Given the description of an element on the screen output the (x, y) to click on. 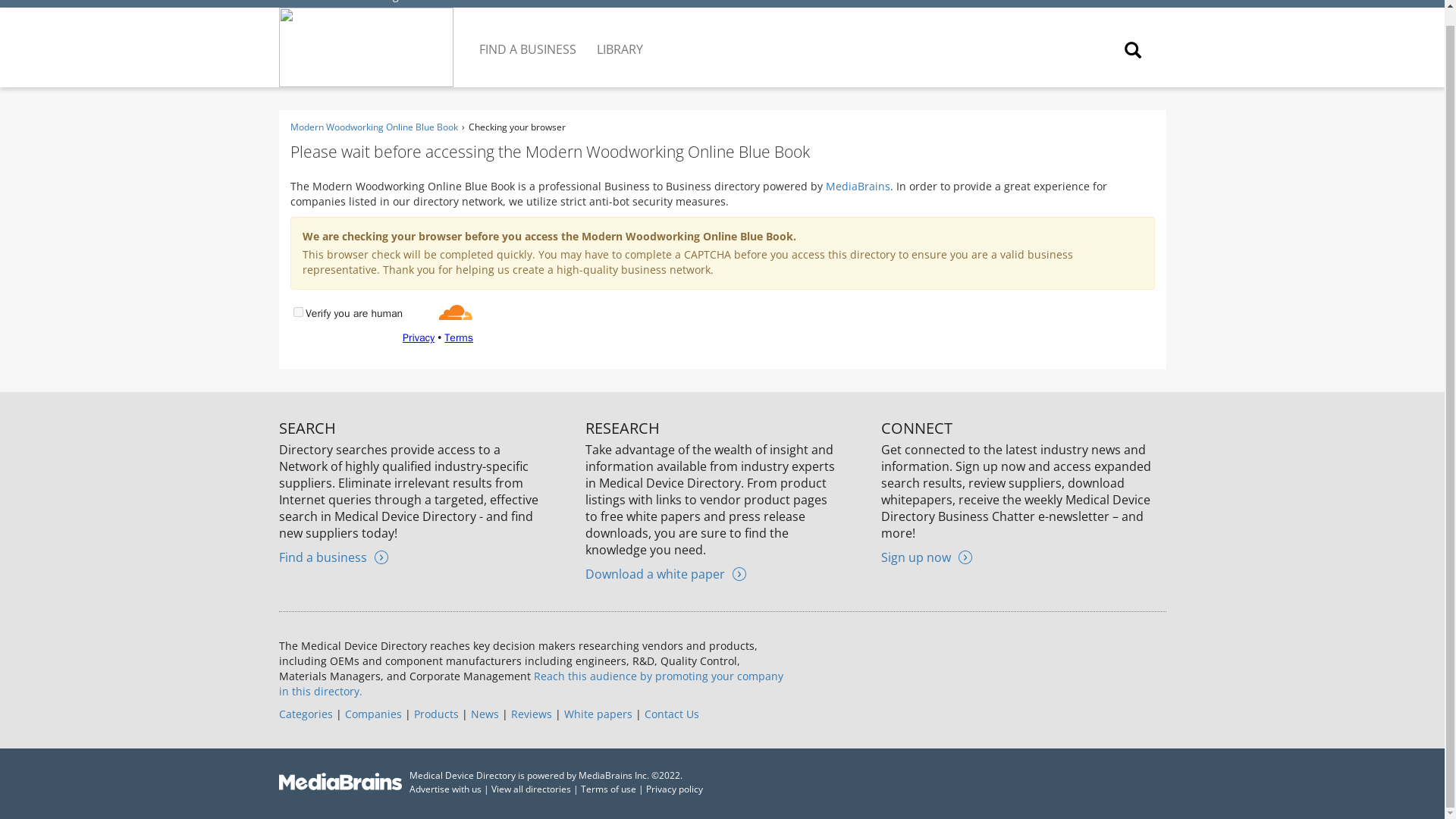
Products (435, 713)
Reviews (531, 713)
Companies (372, 713)
Advertise with us (445, 788)
View all directories (531, 788)
Find a business (333, 556)
MediaBrains (857, 186)
Contact Us (671, 713)
Terms of use (608, 788)
Privacy policy (674, 788)
Download a white paper (665, 573)
White papers (597, 713)
LIBRARY (620, 37)
FIND A BUSINESS (528, 37)
Modern Woodworking Online Blue Book (373, 126)
